Given the description of an element on the screen output the (x, y) to click on. 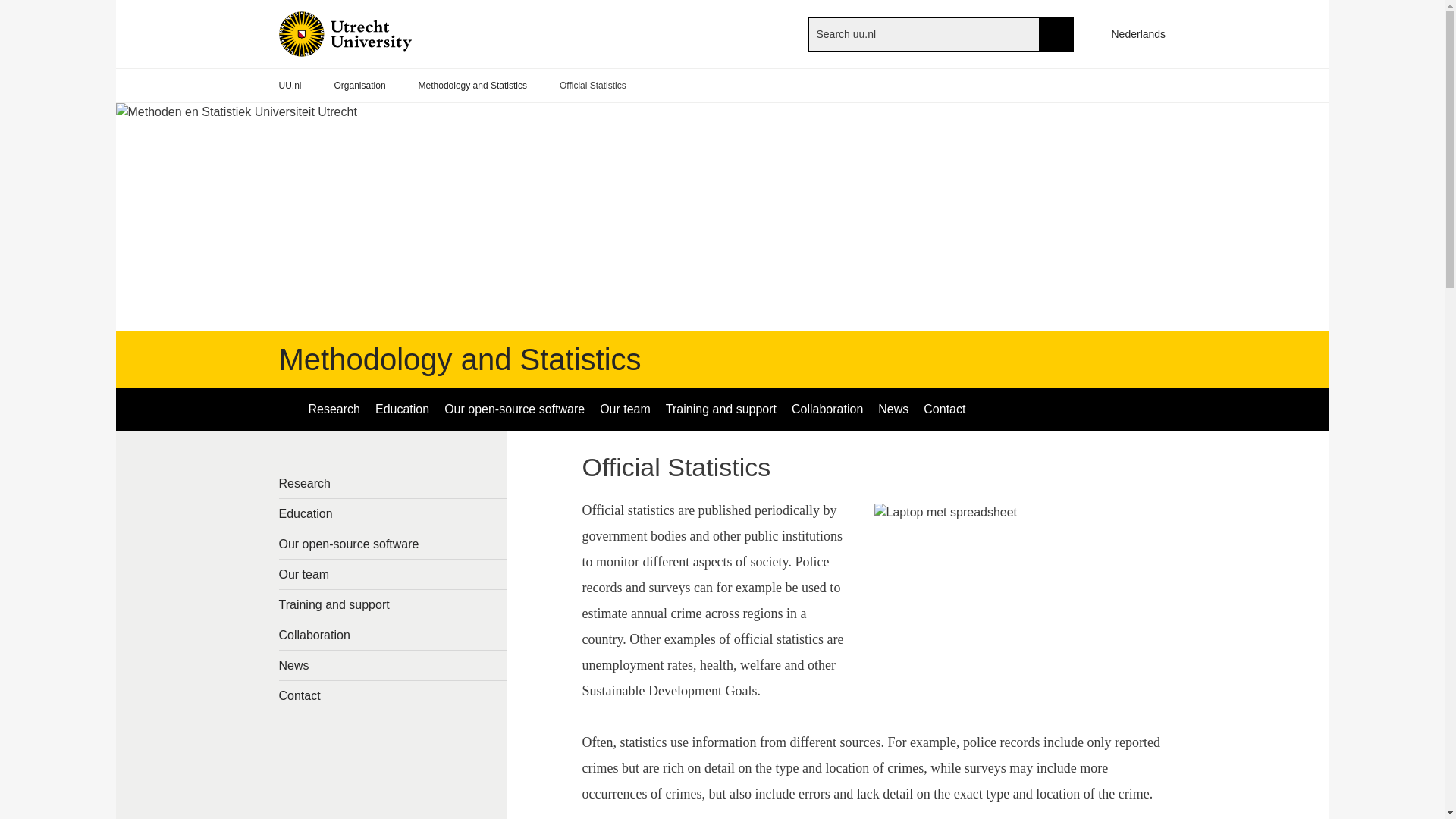
Education (392, 513)
Research (332, 409)
Skip to main content (7, 7)
Methodology and Statistics (473, 85)
Research (392, 482)
SEARCH (1056, 33)
Nederlands (1131, 33)
Our team (392, 573)
Collaboration (392, 634)
Training and support (392, 604)
Contact (943, 409)
News (892, 409)
Methodology and Statistics (460, 359)
Education (402, 409)
Our team (625, 409)
